Given the description of an element on the screen output the (x, y) to click on. 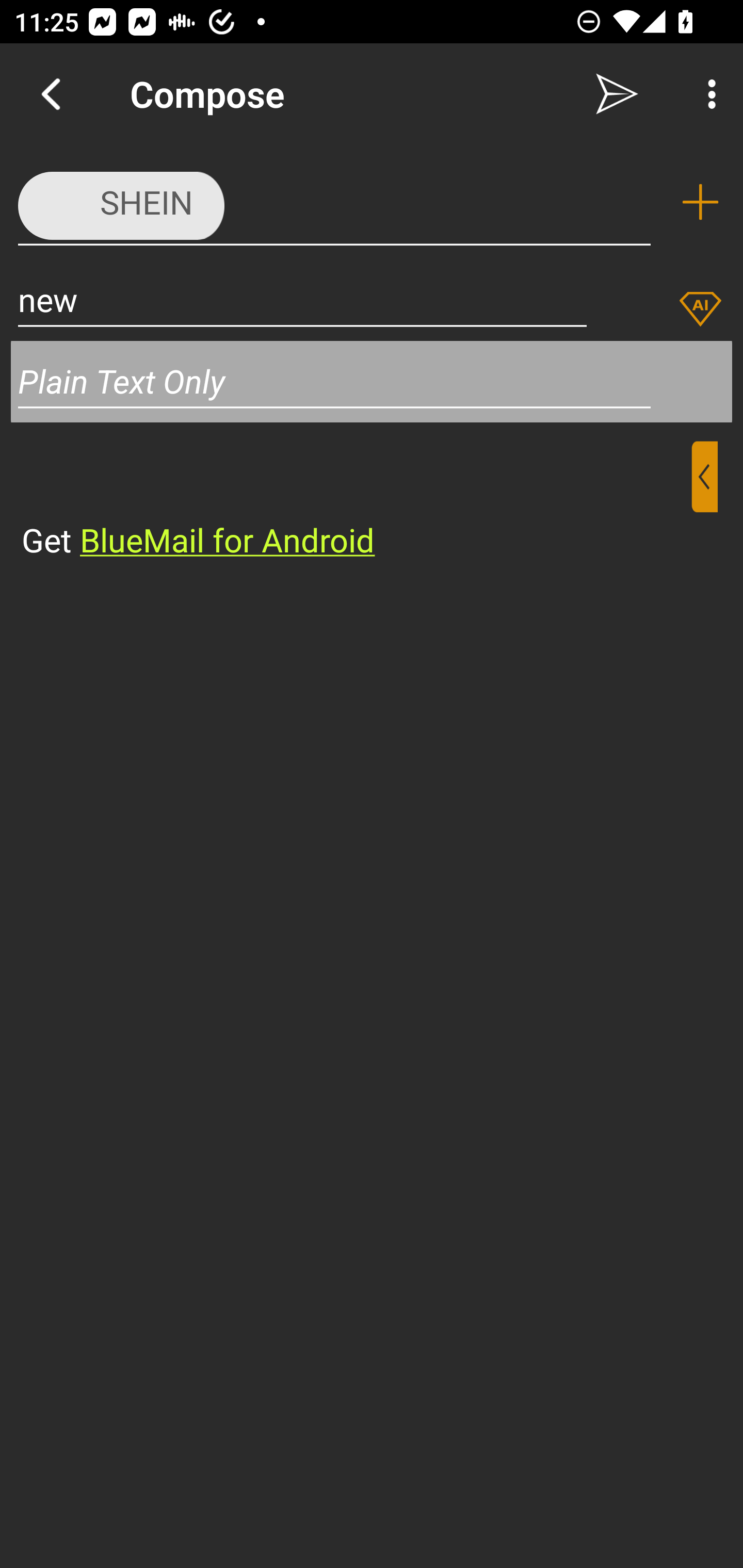
Navigate up (50, 93)
Send (616, 93)
More Options (706, 93)
SHEIN <shein@usmail.shein.com>,  (334, 201)
Add recipient (To) (699, 201)
new (302, 299)
Plain Text Only (371, 380)


⁣Get BlueMail for Android ​ (355, 501)
